Given the description of an element on the screen output the (x, y) to click on. 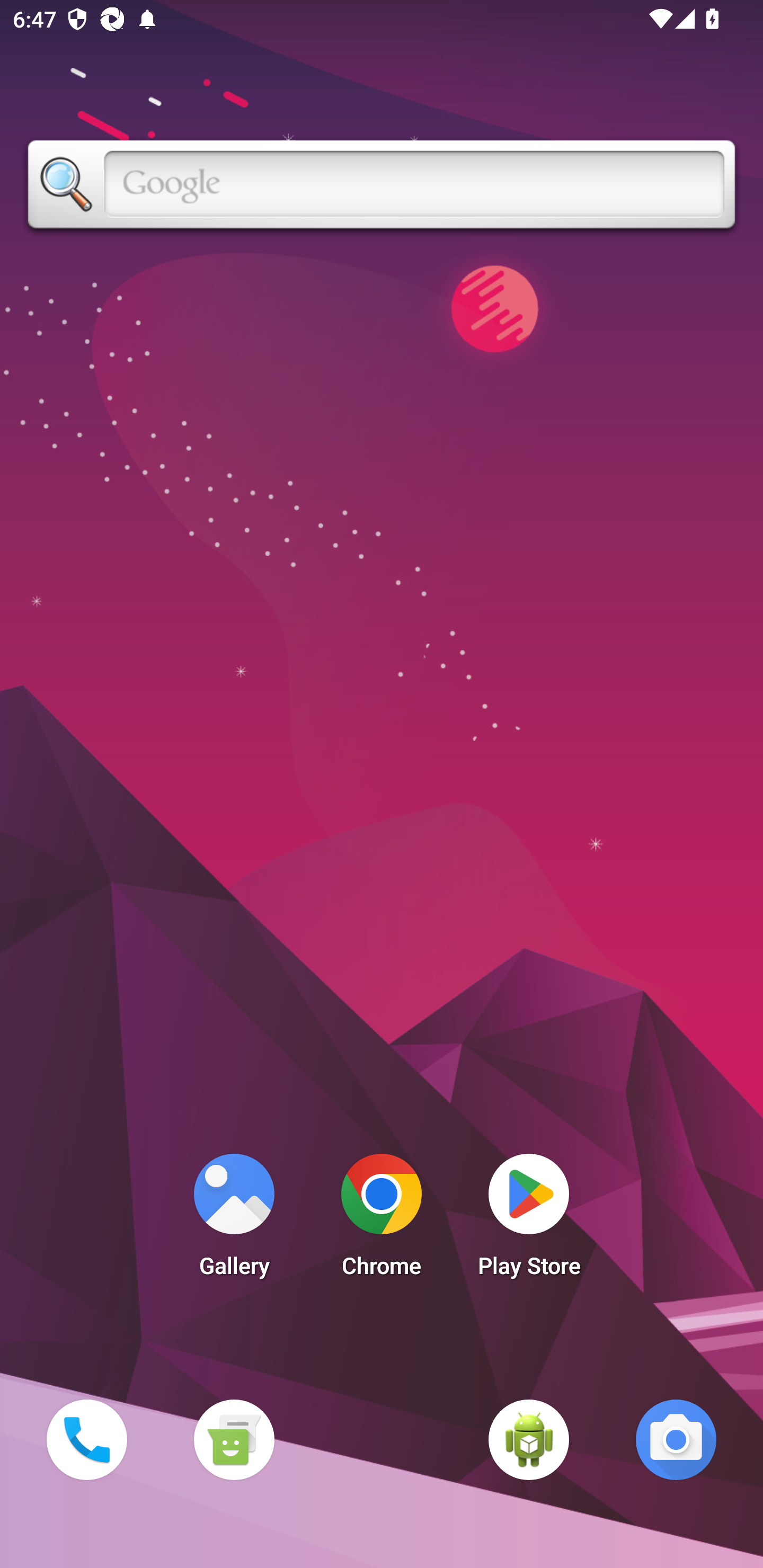
Gallery (233, 1220)
Chrome (381, 1220)
Play Store (528, 1220)
Phone (86, 1439)
Messaging (233, 1439)
WebView Browser Tester (528, 1439)
Camera (676, 1439)
